Given the description of an element on the screen output the (x, y) to click on. 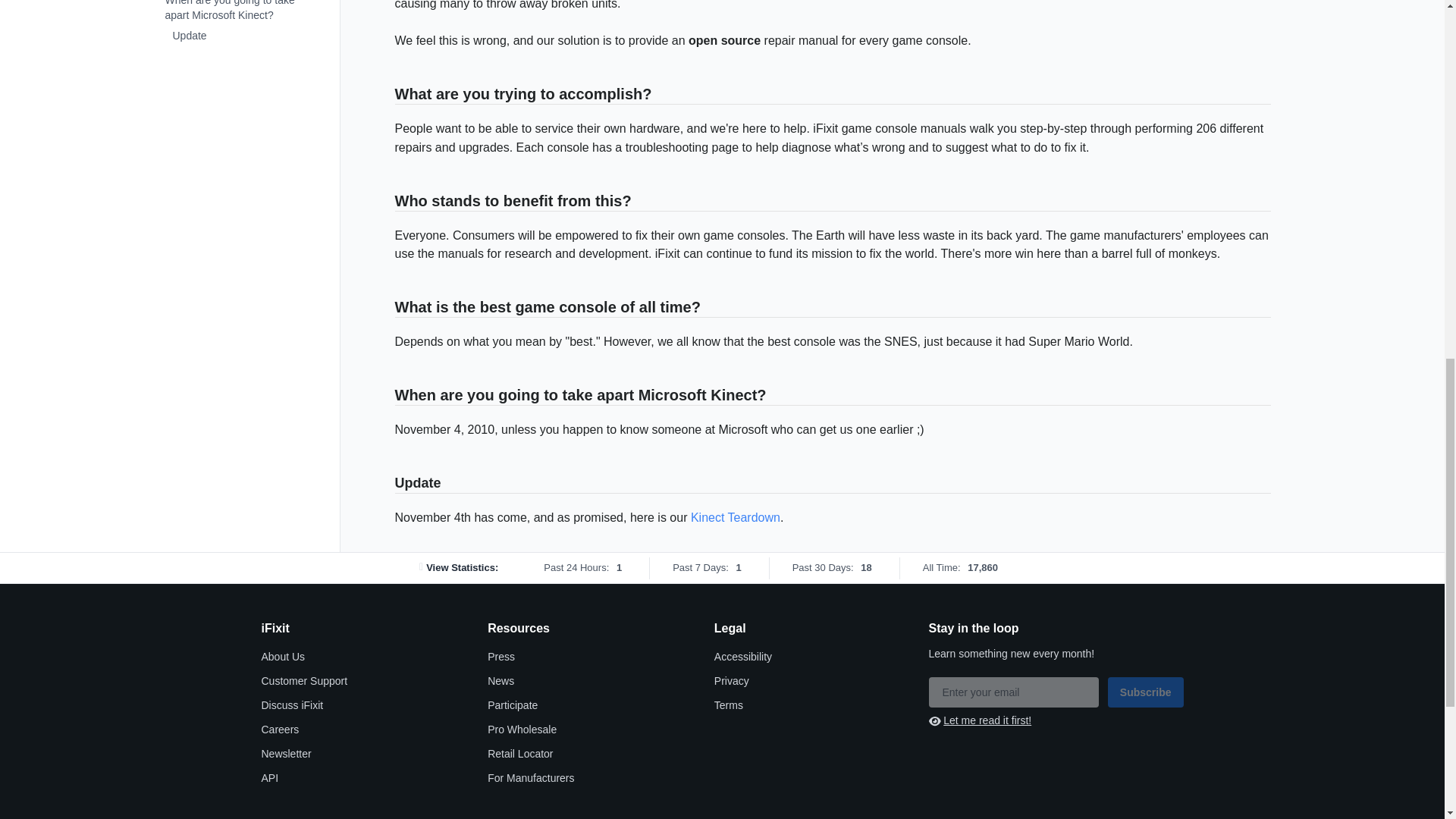
Link to this section (386, 396)
Link to this section (386, 202)
Link to this section (386, 308)
Link to this section (386, 95)
Link to this section (386, 483)
